Given the description of an element on the screen output the (x, y) to click on. 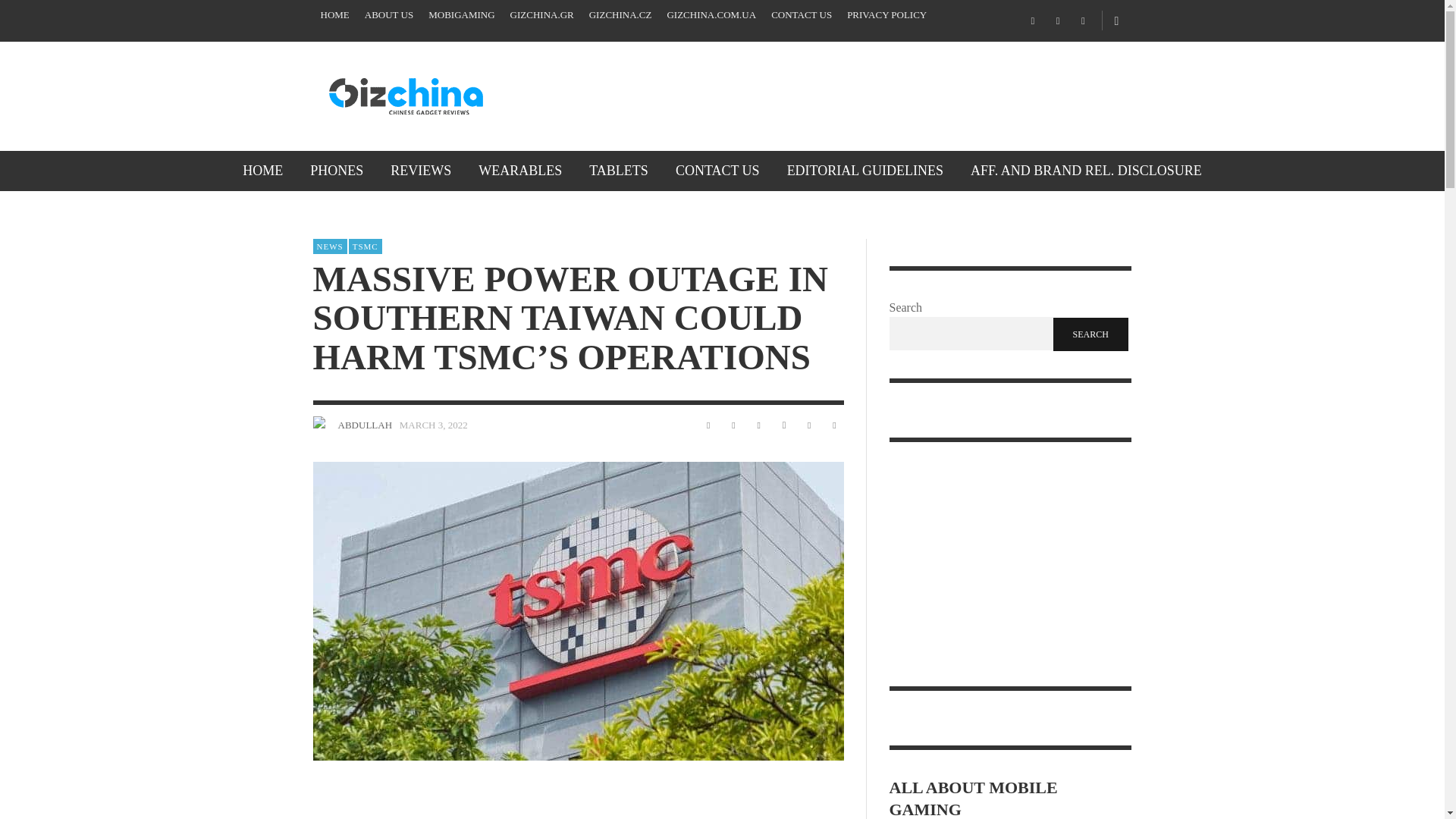
MOBIGAMING (461, 15)
HOME (334, 15)
REVIEWS (420, 170)
PHONES (337, 170)
GIZCHINA.CZ (619, 15)
CONTACT US (801, 15)
PRIVACY POLICY (887, 15)
HOME (262, 170)
GIZCHINA.COM.UA (710, 15)
ABOUT US (388, 15)
GIZCHINA.GR (541, 15)
